Given the description of an element on the screen output the (x, y) to click on. 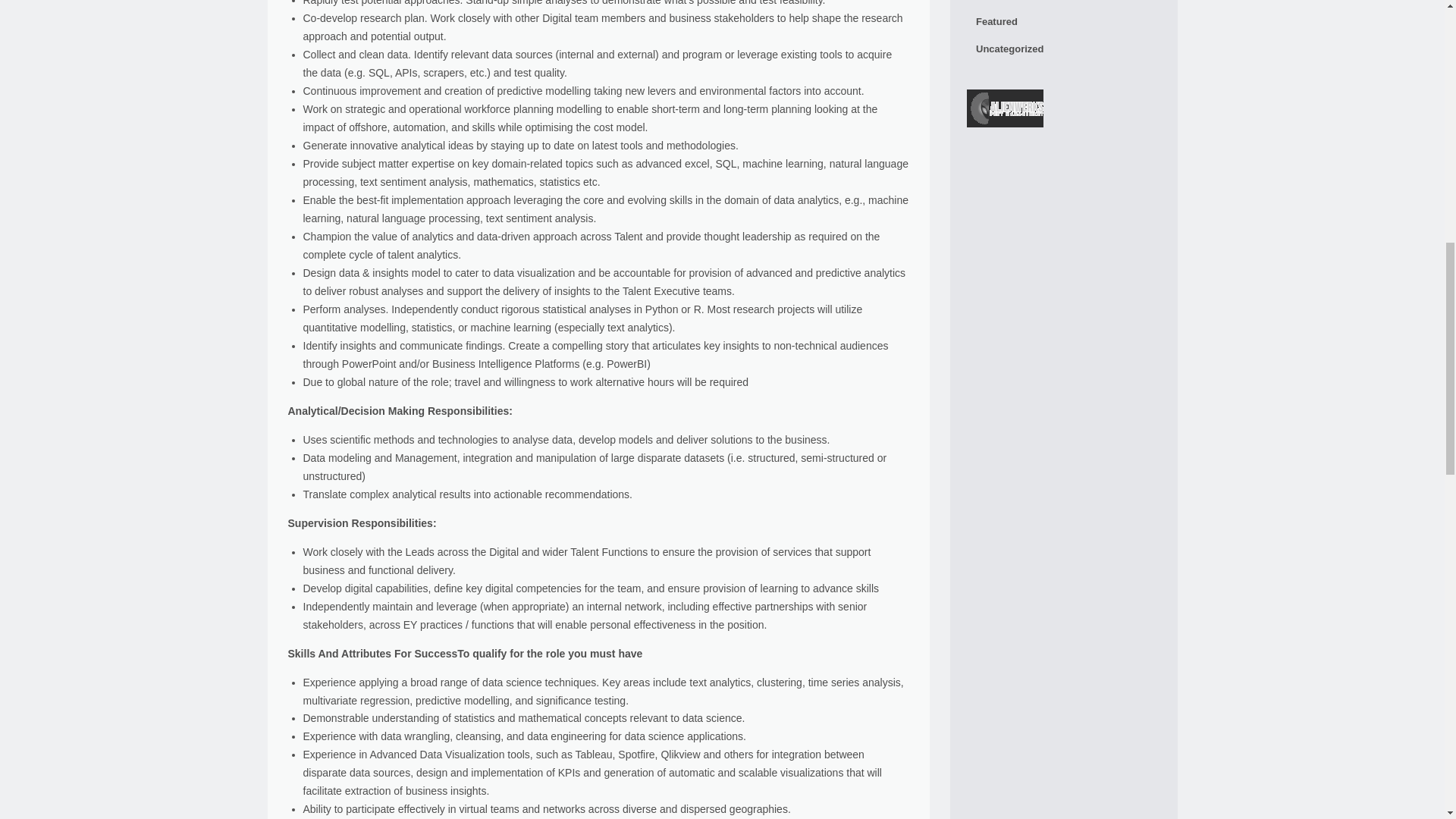
Uncategorized (1063, 49)
AlienWerks Pest Management (1004, 111)
AI Skills (1063, 4)
Featured (1063, 22)
